Given the description of an element on the screen output the (x, y) to click on. 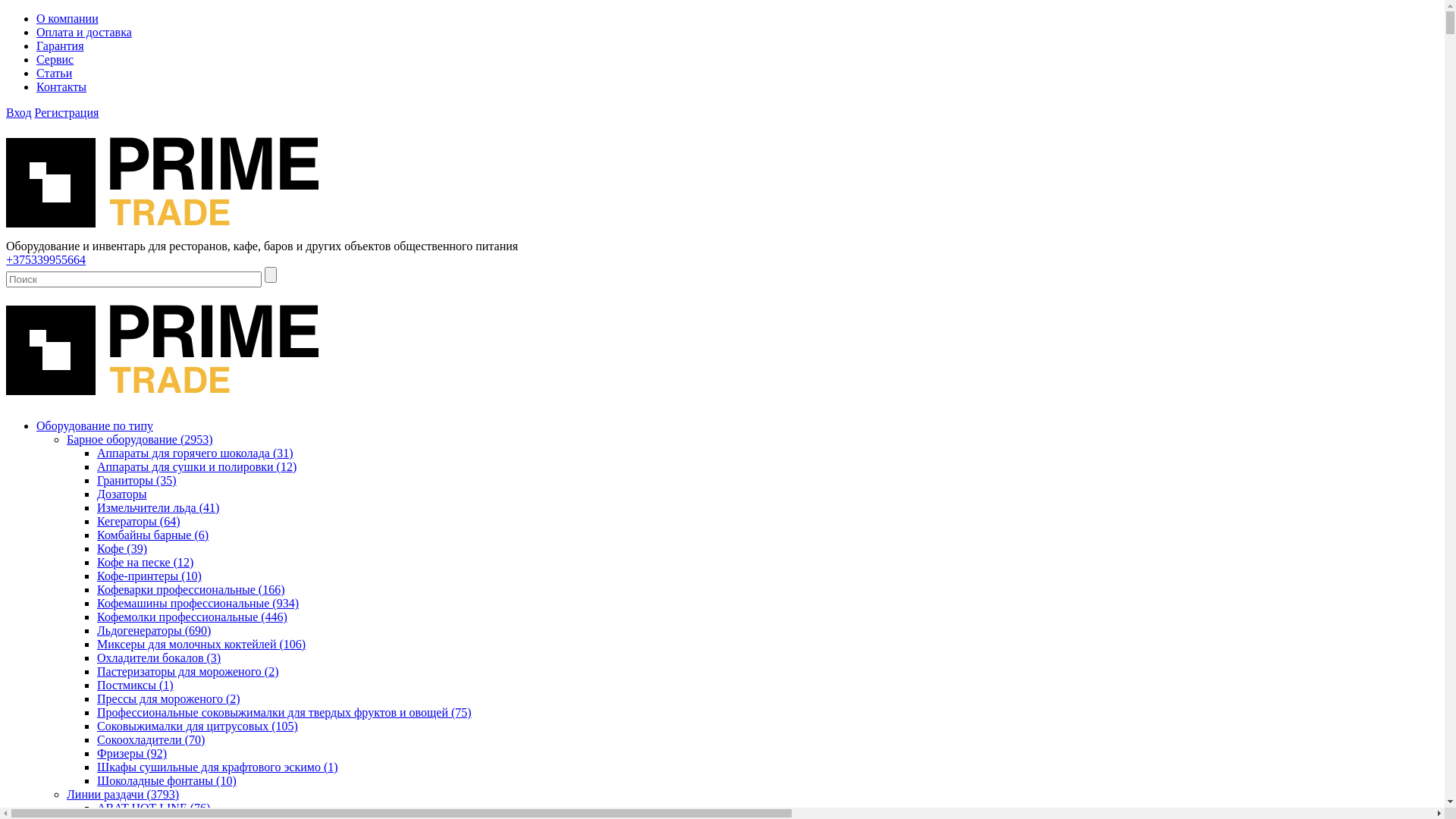
+375339955664 Element type: text (45, 259)
ABAT HOT-LINE (76) Element type: text (153, 807)
